Given the description of an element on the screen output the (x, y) to click on. 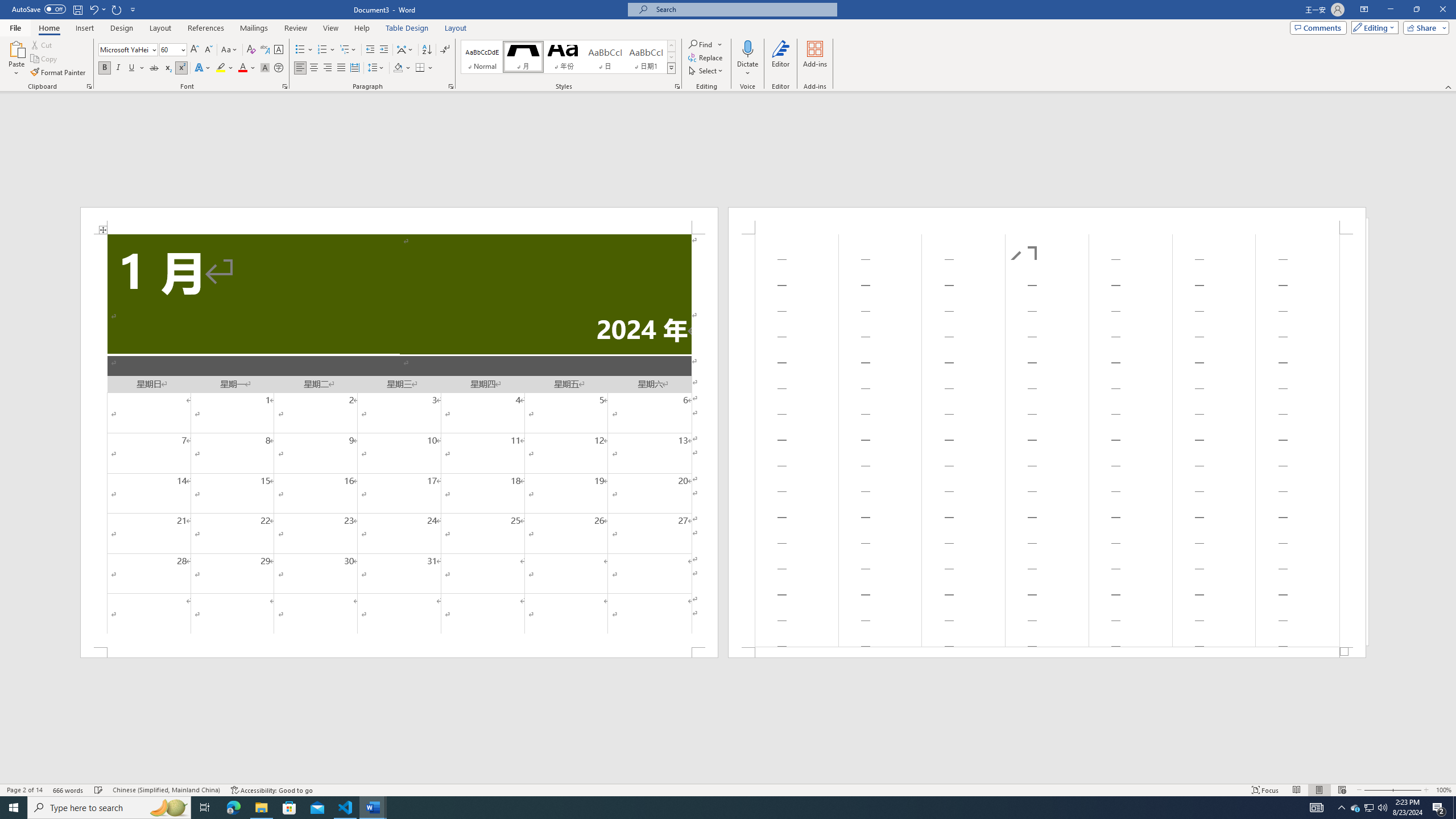
Read Mode (1296, 790)
Close (1442, 9)
Design (122, 28)
Styles (670, 67)
Styles... (676, 85)
Numbering (326, 49)
Text Effects and Typography (202, 67)
Phonetic Guide... (264, 49)
Microsoft search (742, 9)
Mailings (253, 28)
Collapse the Ribbon (1448, 86)
Cut (42, 44)
Copy (45, 58)
Editor (780, 58)
